Given the description of an element on the screen output the (x, y) to click on. 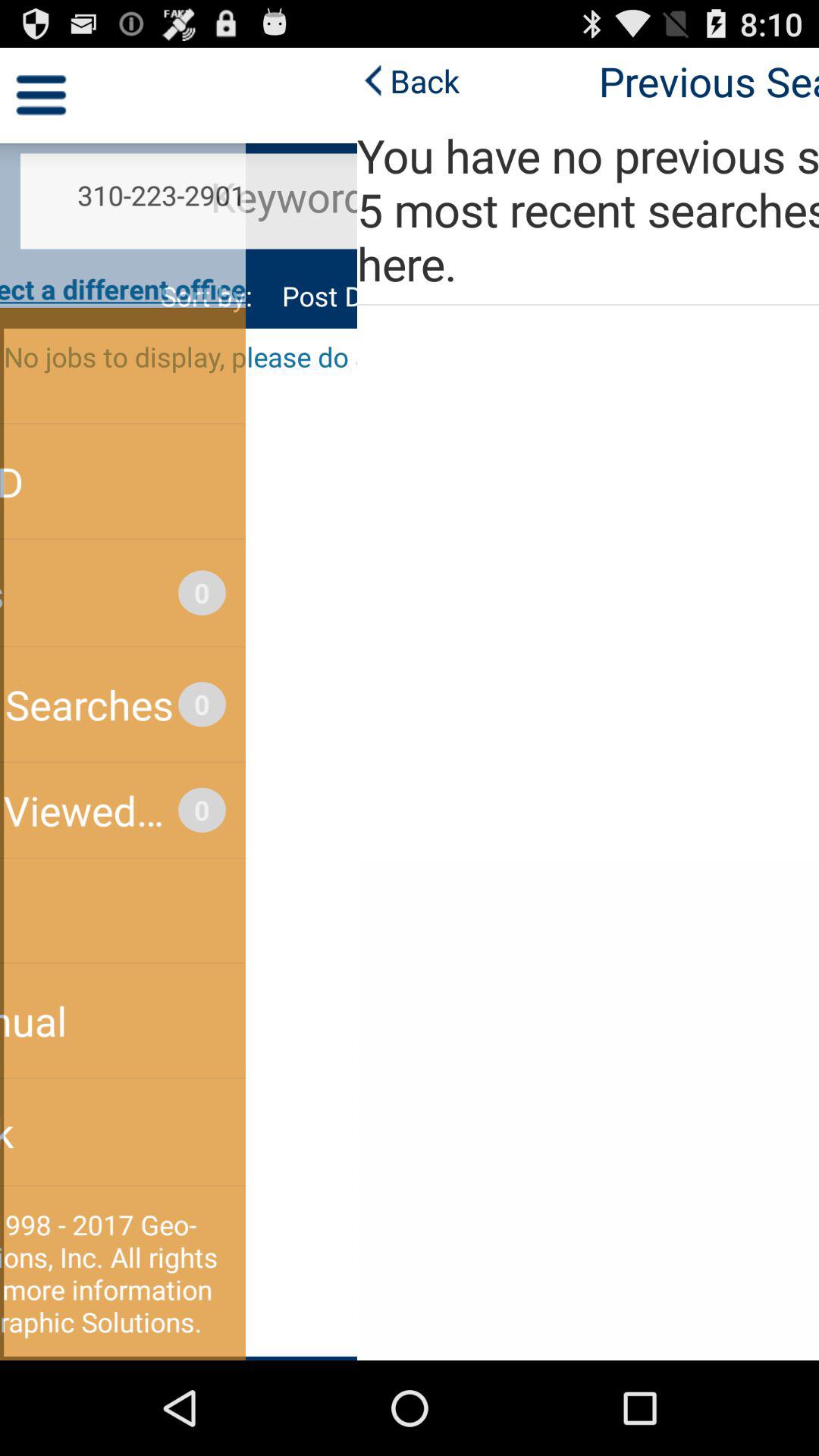
flip until the you have no icon (409, 209)
